Given the description of an element on the screen output the (x, y) to click on. 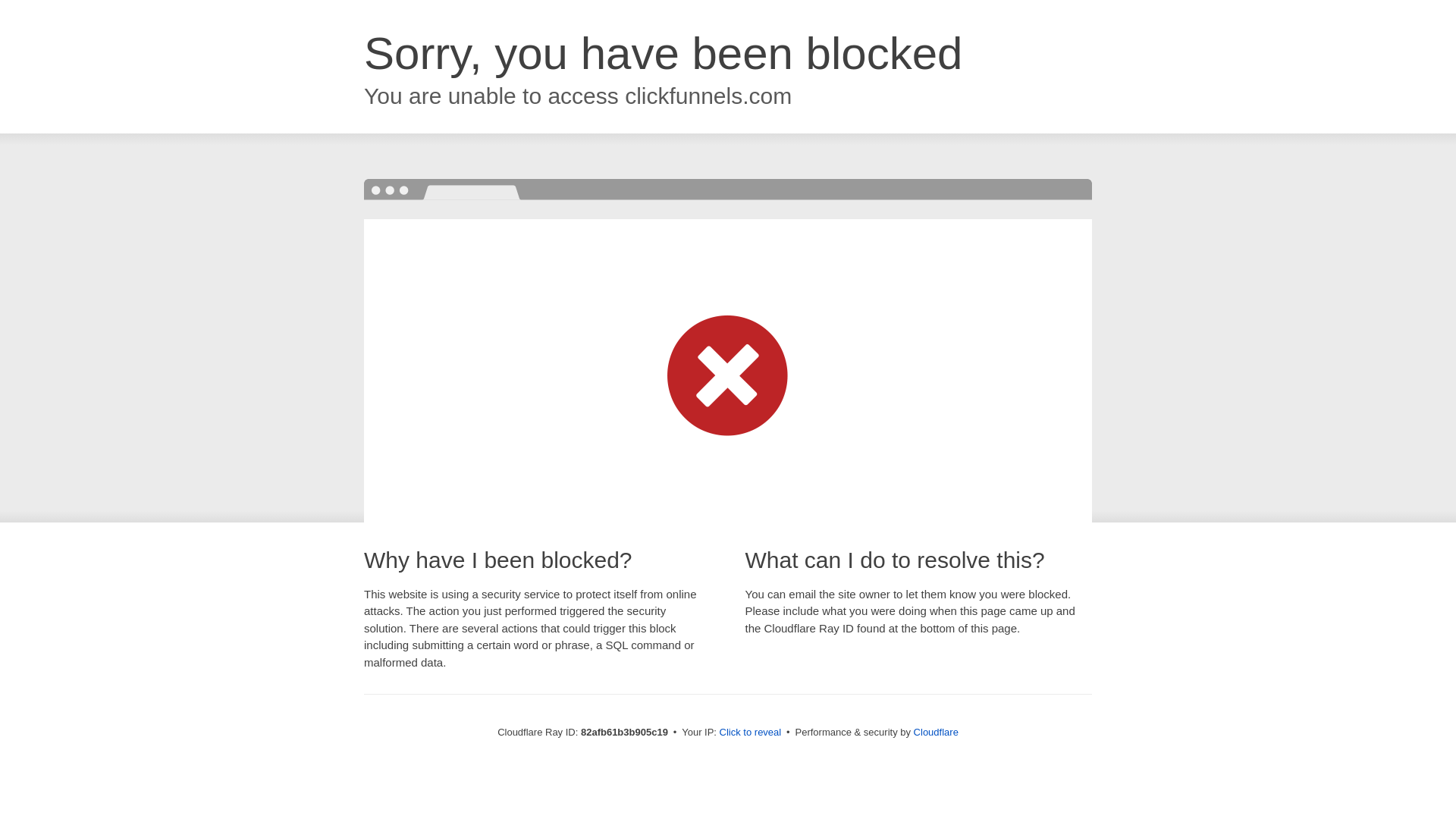
Click to reveal Element type: text (750, 732)
Cloudflare Element type: text (935, 731)
